Given the description of an element on the screen output the (x, y) to click on. 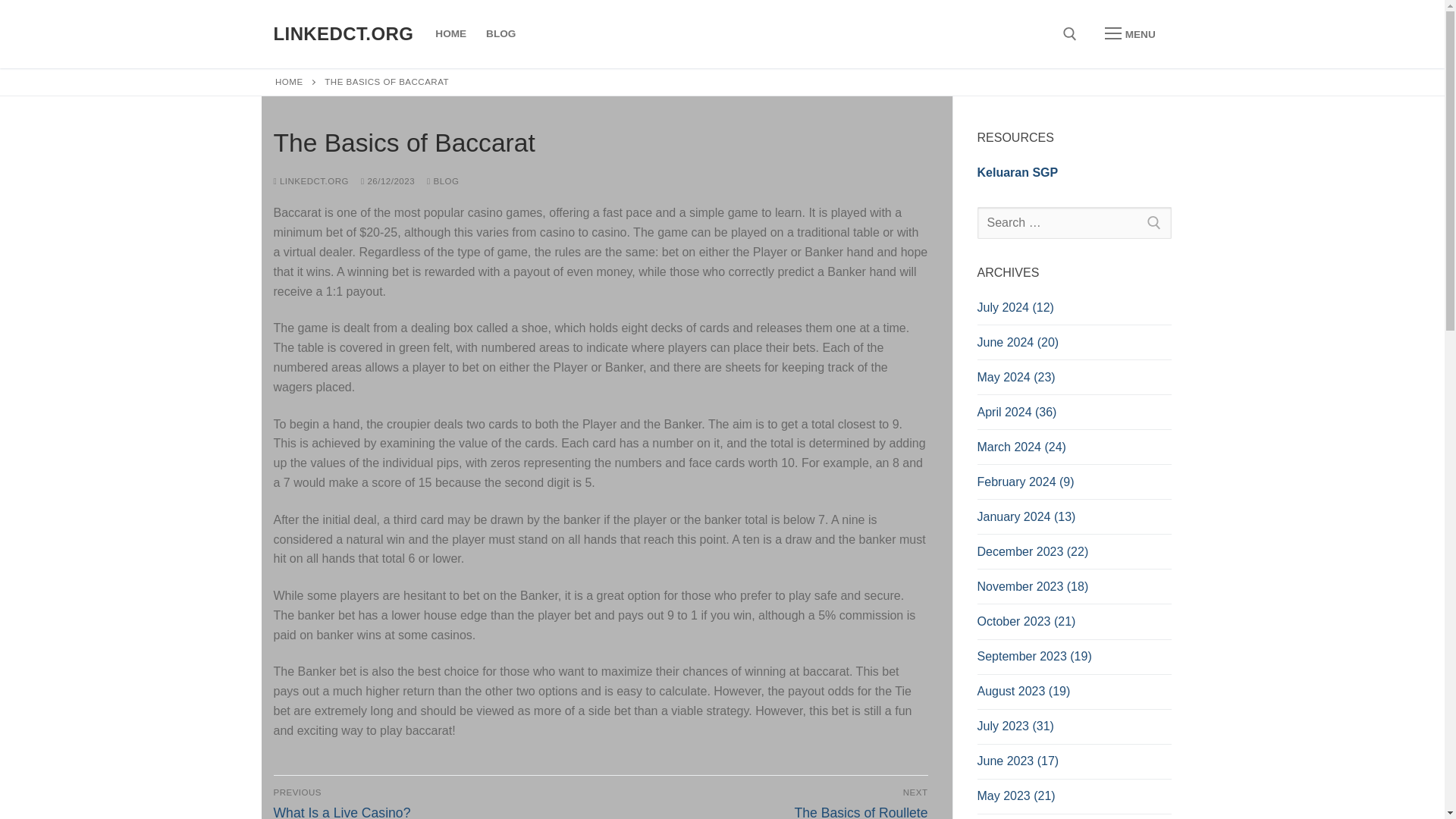
HOME (288, 81)
BLOG (500, 33)
Keluaran SGP (1017, 172)
Search for: (1073, 223)
HOME (450, 33)
MENU (1129, 33)
BLOG (433, 803)
LINKEDCT.ORG (442, 180)
LINKEDCT.ORG (343, 33)
